Given the description of an element on the screen output the (x, y) to click on. 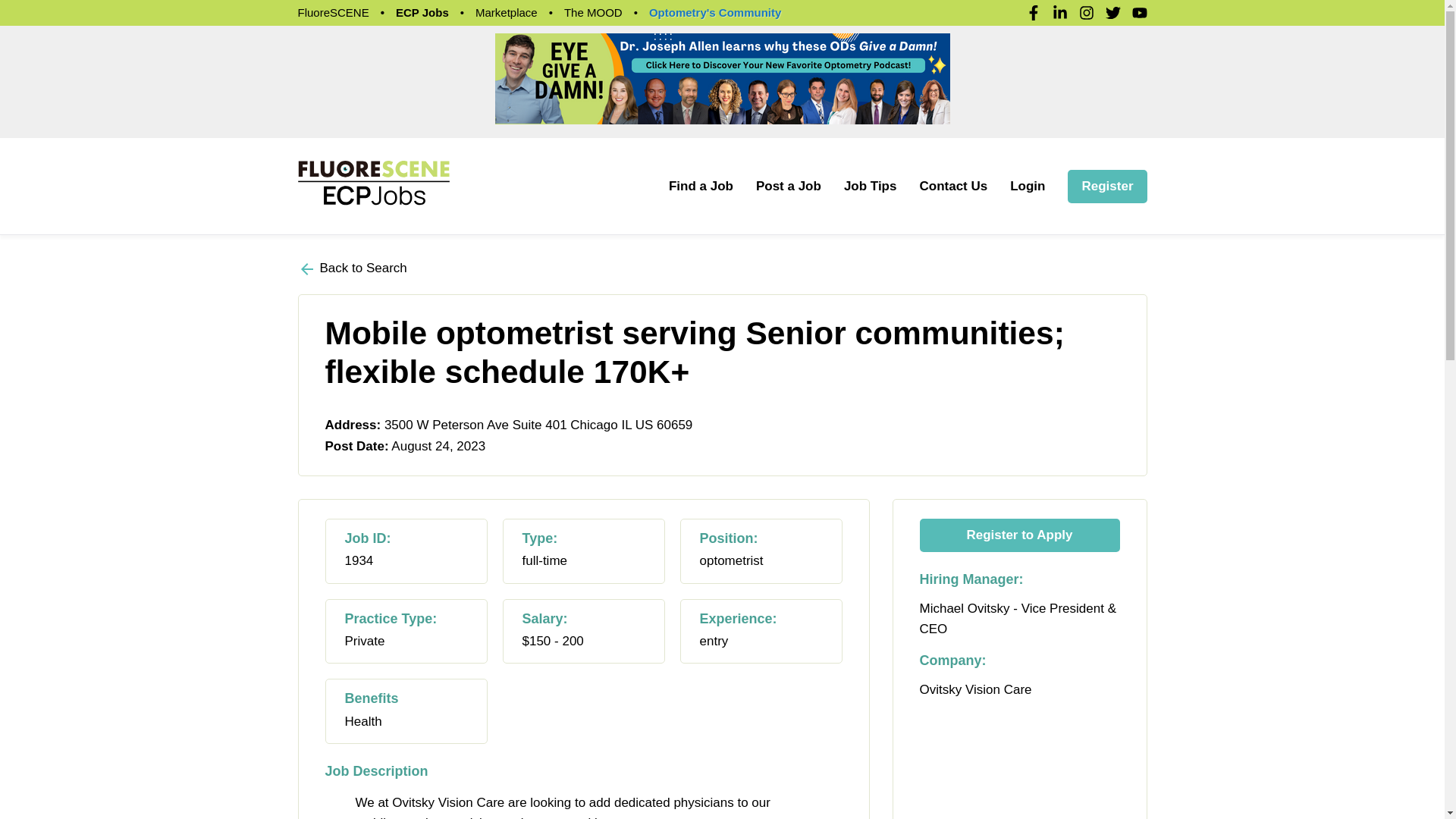
The MOOD (593, 11)
Register (1107, 186)
Login (1027, 186)
Post a Job (788, 186)
Find a Job (700, 186)
Back to Search (351, 268)
Optometry's Community (714, 11)
Marketplace (506, 11)
Job Tips (870, 186)
Contact Us (952, 186)
Register to Apply (1018, 535)
FluoreSCENE (332, 11)
